Given the description of an element on the screen output the (x, y) to click on. 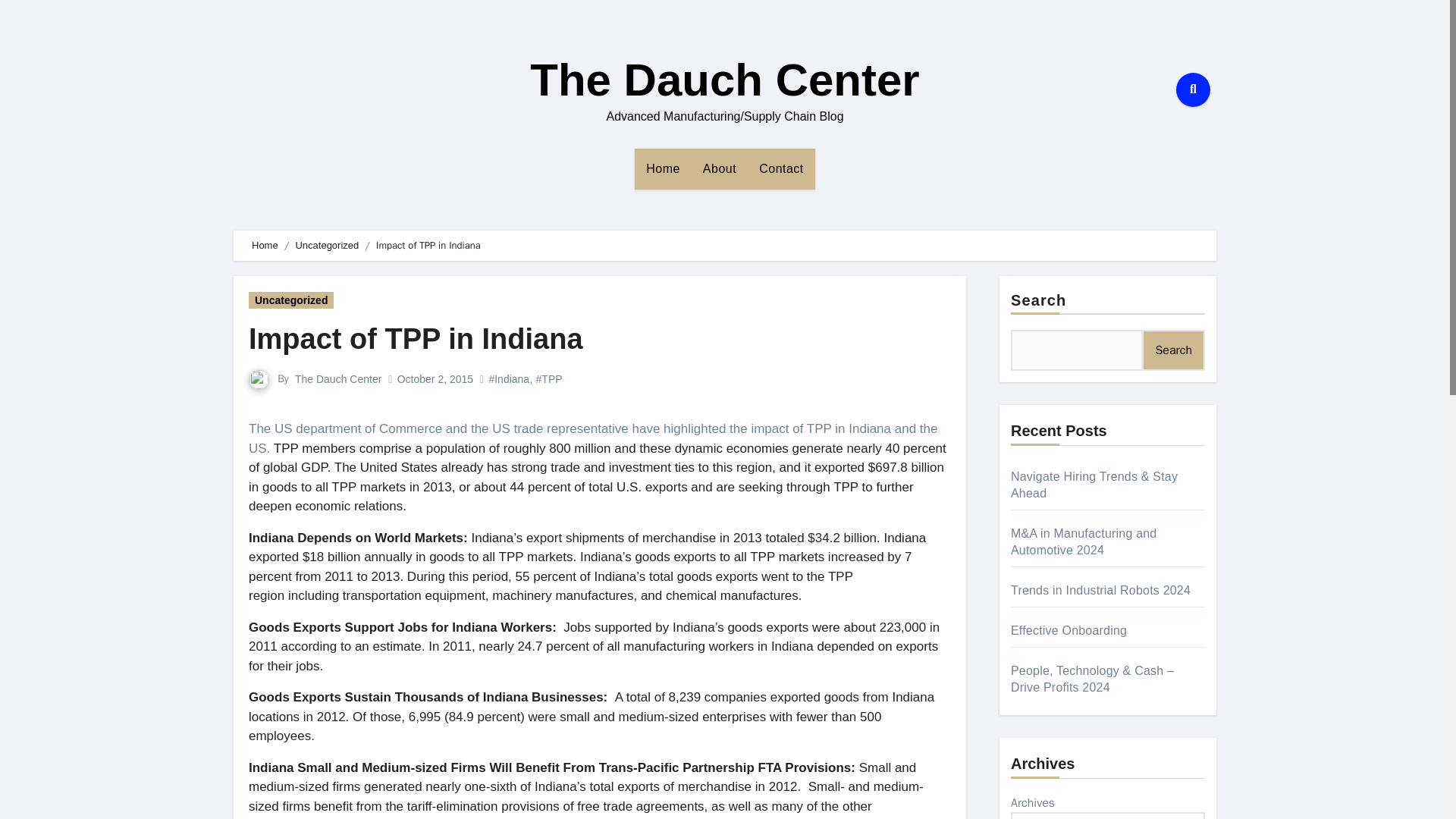
The Dauch Center (338, 378)
Contact (781, 168)
Home (264, 244)
Uncategorized (290, 299)
The Dauch Center (723, 79)
Permalink to: Impact of TPP in Indiana (415, 338)
Home (662, 168)
Uncategorized (326, 244)
About (719, 168)
Impact of TPP in Indiana (415, 338)
